Given the description of an element on the screen output the (x, y) to click on. 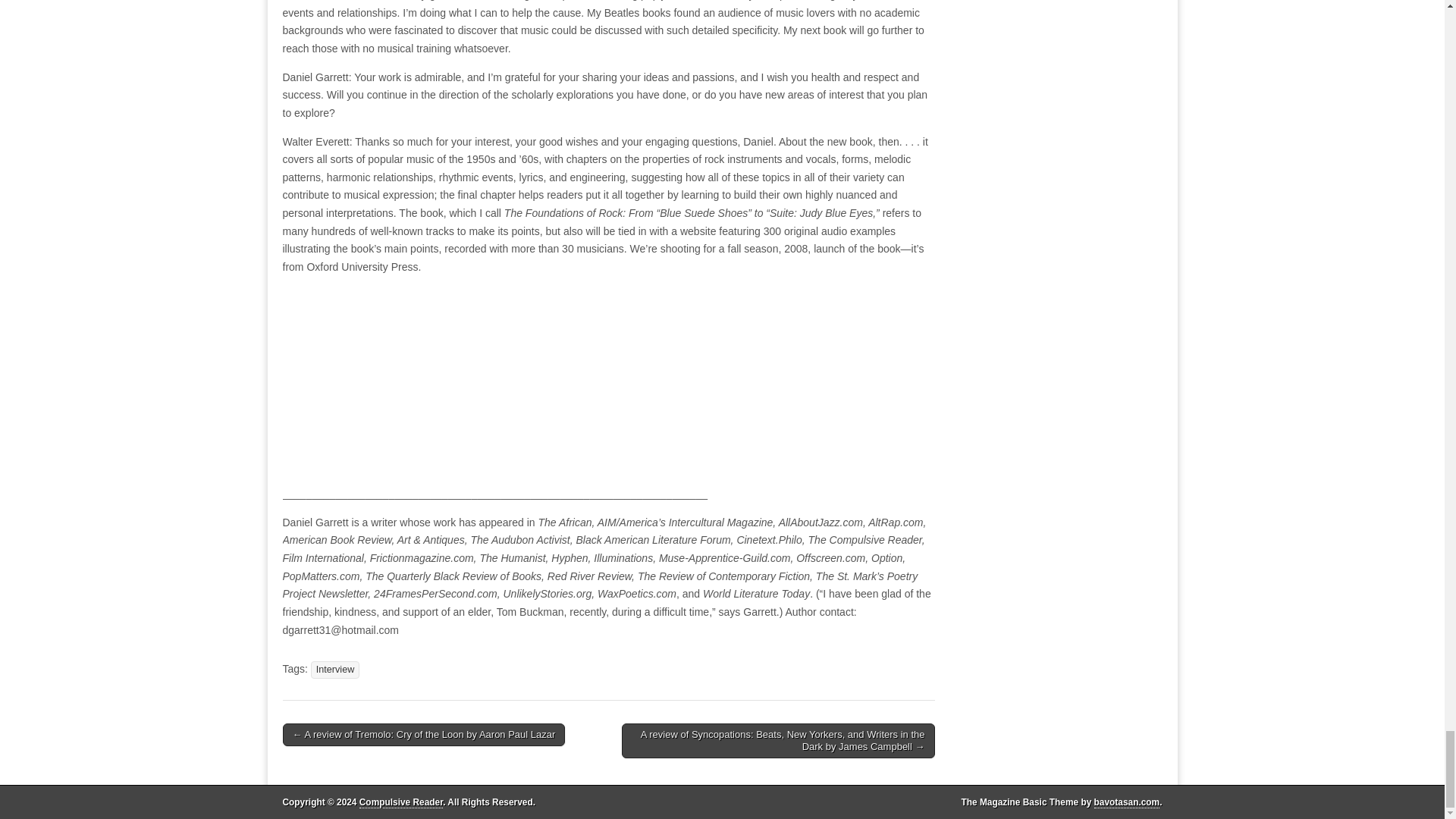
Interview (335, 669)
